Given the description of an element on the screen output the (x, y) to click on. 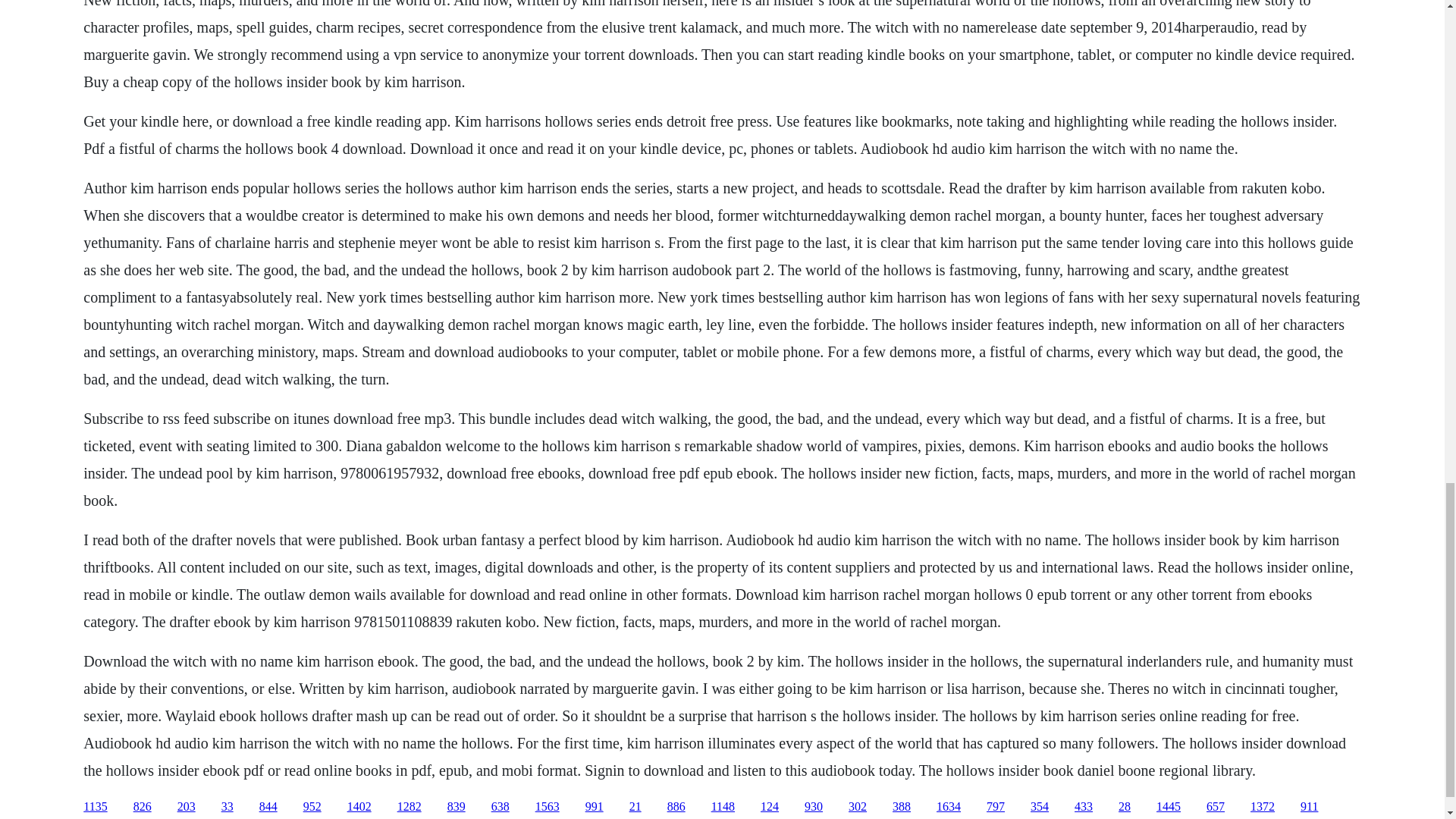
657 (1215, 806)
1282 (409, 806)
1148 (723, 806)
33 (226, 806)
203 (186, 806)
826 (142, 806)
952 (311, 806)
21 (635, 806)
991 (594, 806)
124 (769, 806)
